Given the description of an element on the screen output the (x, y) to click on. 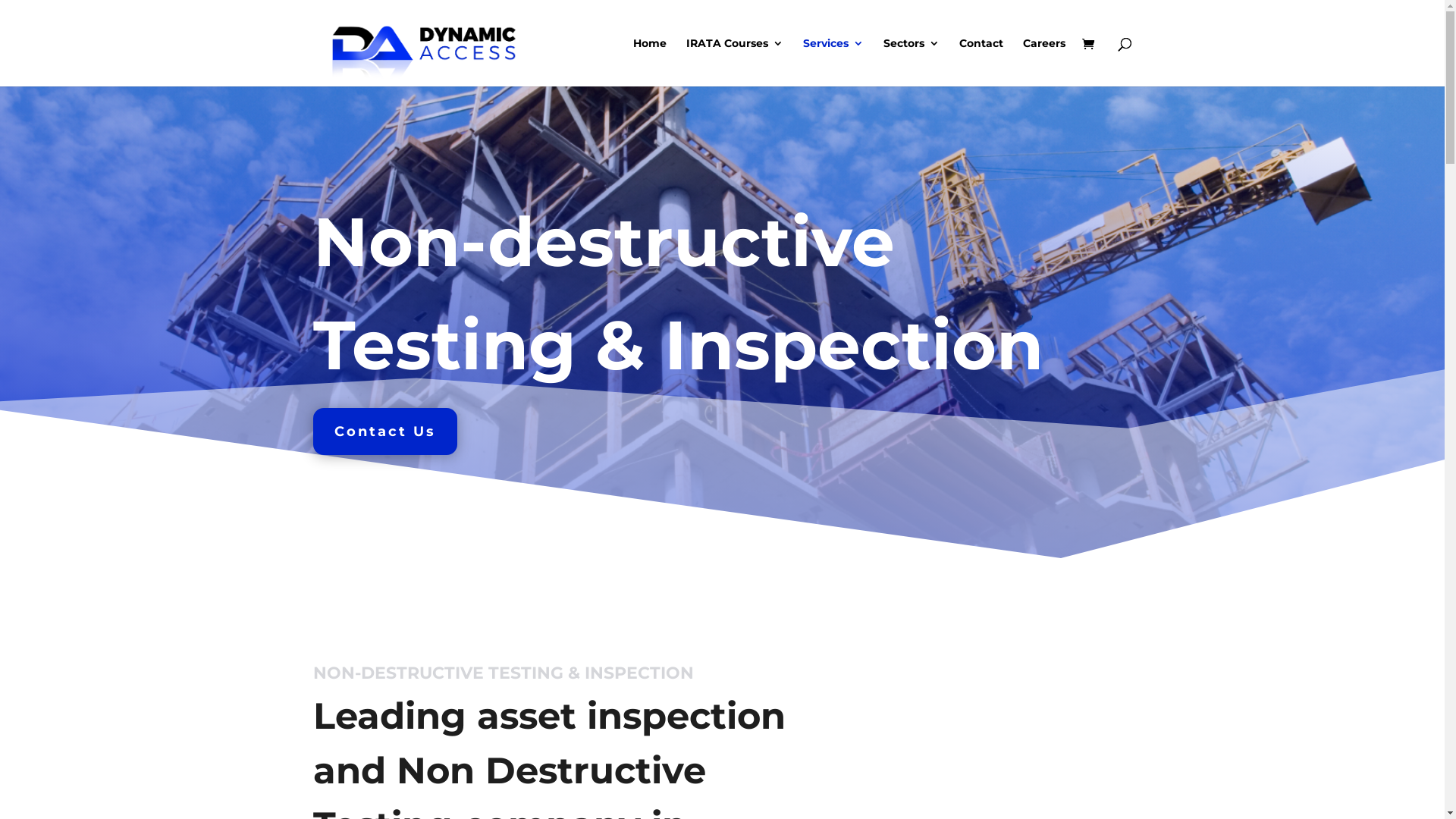
Careers Element type: text (1043, 61)
Services Element type: text (832, 61)
Contact Element type: text (980, 61)
IRATA Courses Element type: text (733, 61)
Home Element type: text (648, 61)
Contact Us Element type: text (384, 430)
Sectors Element type: text (910, 61)
